Given the description of an element on the screen output the (x, y) to click on. 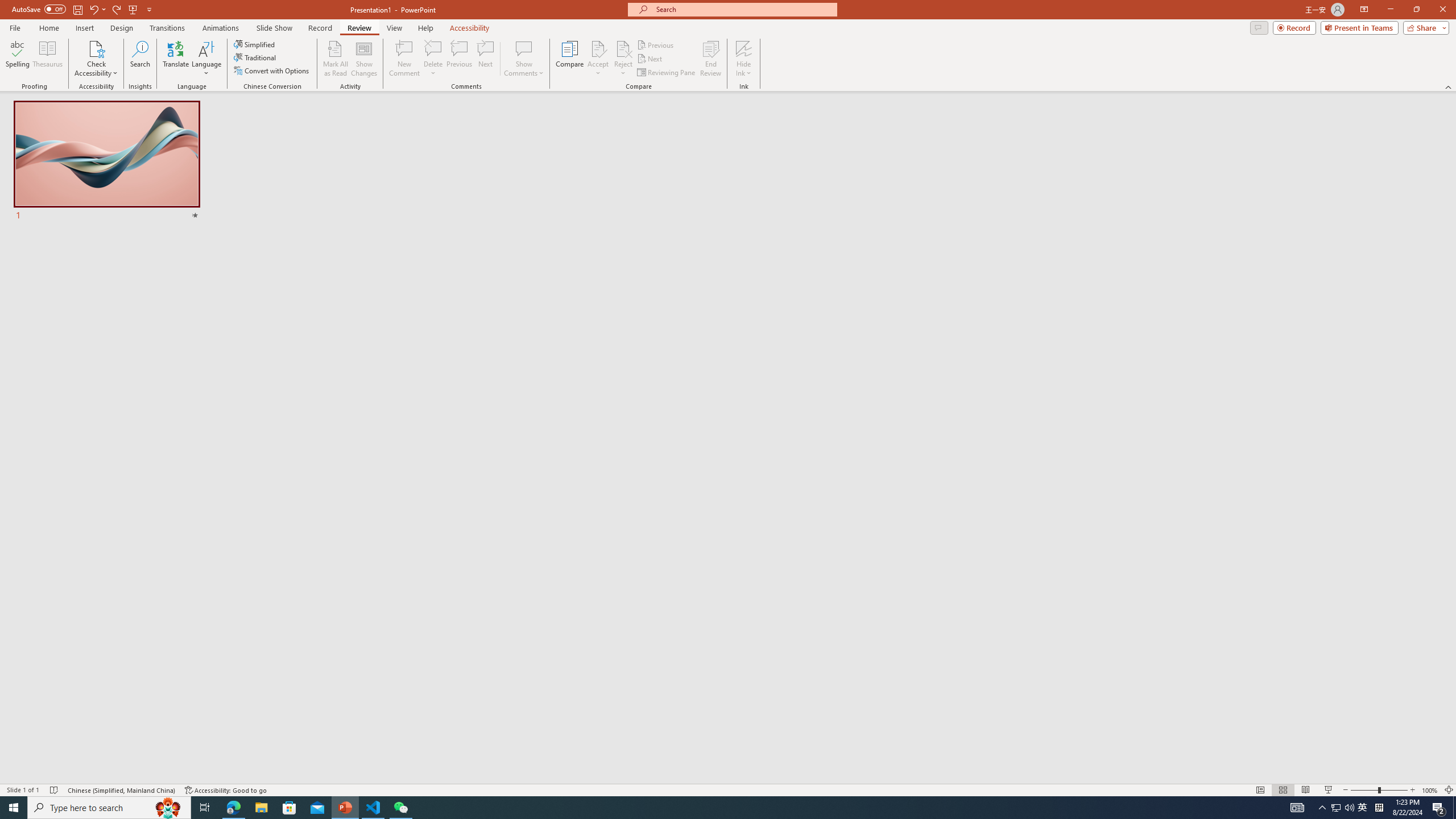
Next (649, 58)
Previous (655, 44)
Zoom 100% (1430, 790)
